Given the description of an element on the screen output the (x, y) to click on. 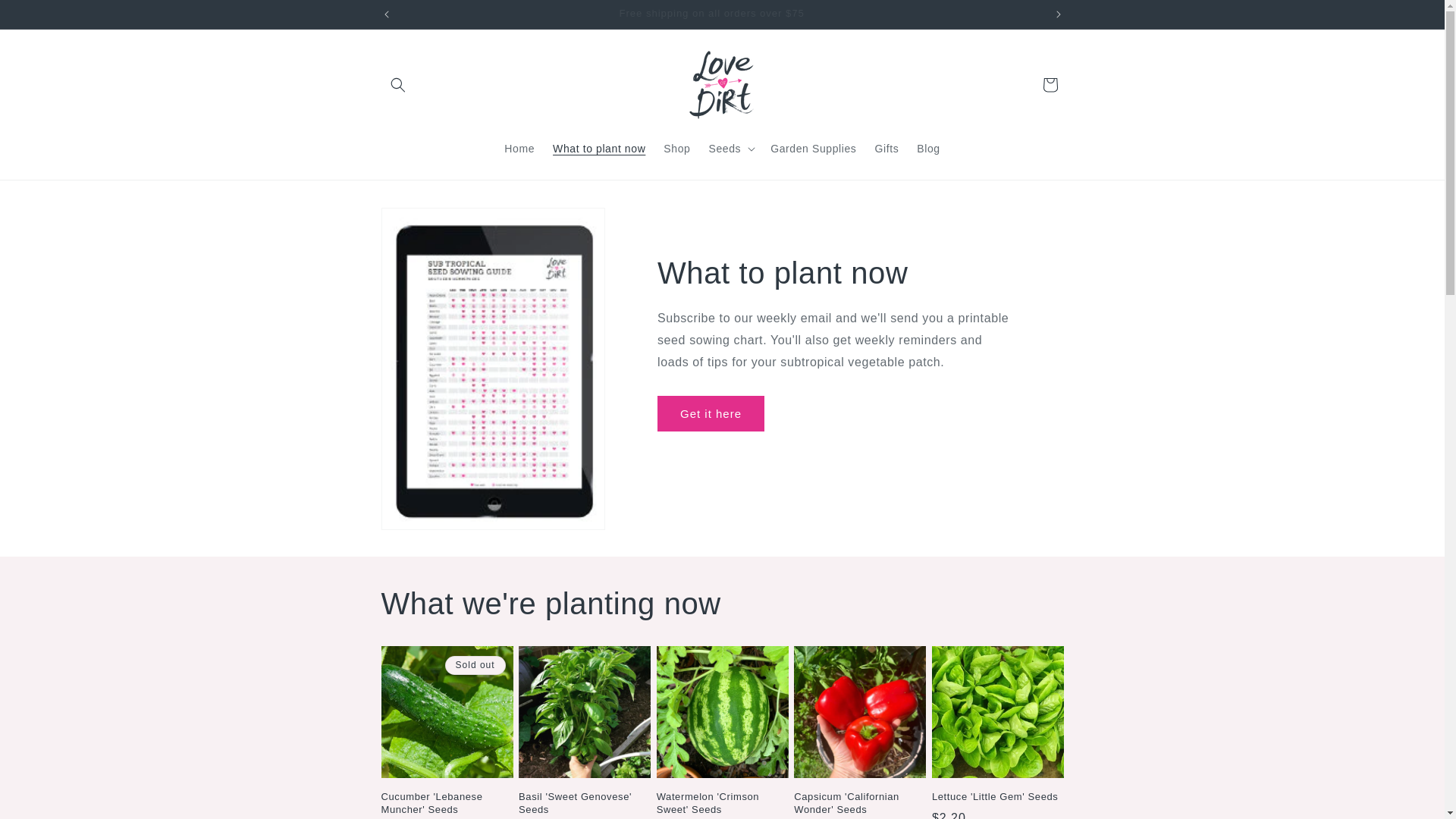
Gifts Element type: text (886, 147)
What to plant now Element type: text (598, 147)
Get it here Element type: text (710, 413)
Basil 'Sweet Genovese' Seeds Element type: text (584, 803)
Capsicum 'Californian Wonder' Seeds Element type: text (859, 803)
Blog Element type: text (927, 147)
Garden Supplies Element type: text (813, 147)
Shop Element type: text (676, 147)
Cucumber 'Lebanese Muncher' Seeds Element type: text (446, 803)
Cart Element type: text (1049, 84)
Lettuce 'Little Gem' Seeds Element type: text (997, 796)
Home Element type: text (519, 147)
Watermelon 'Crimson Sweet' Seeds Element type: text (722, 803)
